Given the description of an element on the screen output the (x, y) to click on. 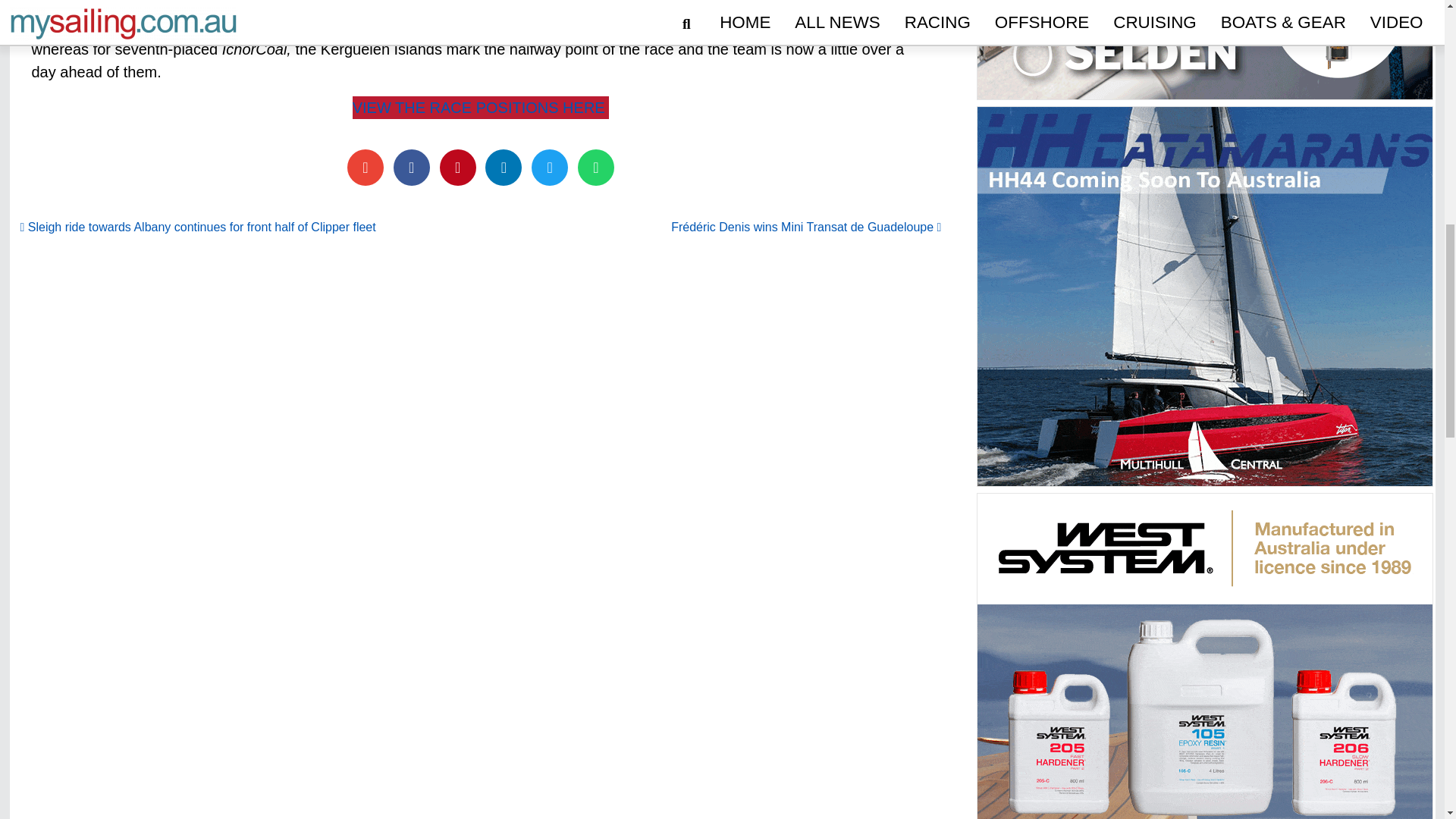
Share by Email (365, 167)
VIEW THE RACE POSITIONS HERE  (481, 107)
